Given the description of an element on the screen output the (x, y) to click on. 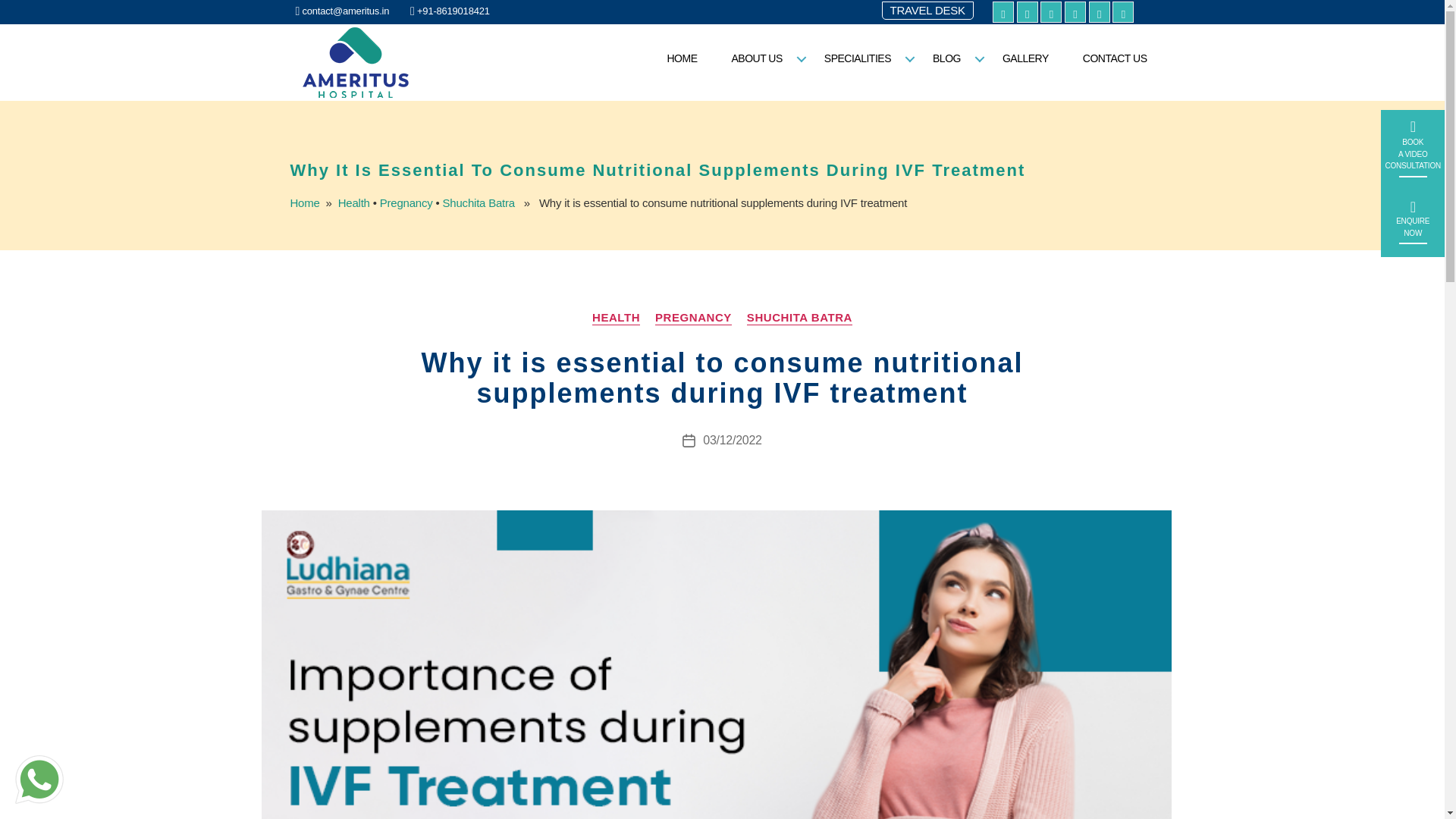
TRAVEL DESK (927, 10)
SPECIALITIES (860, 58)
ABOUT US (759, 58)
